Given the description of an element on the screen output the (x, y) to click on. 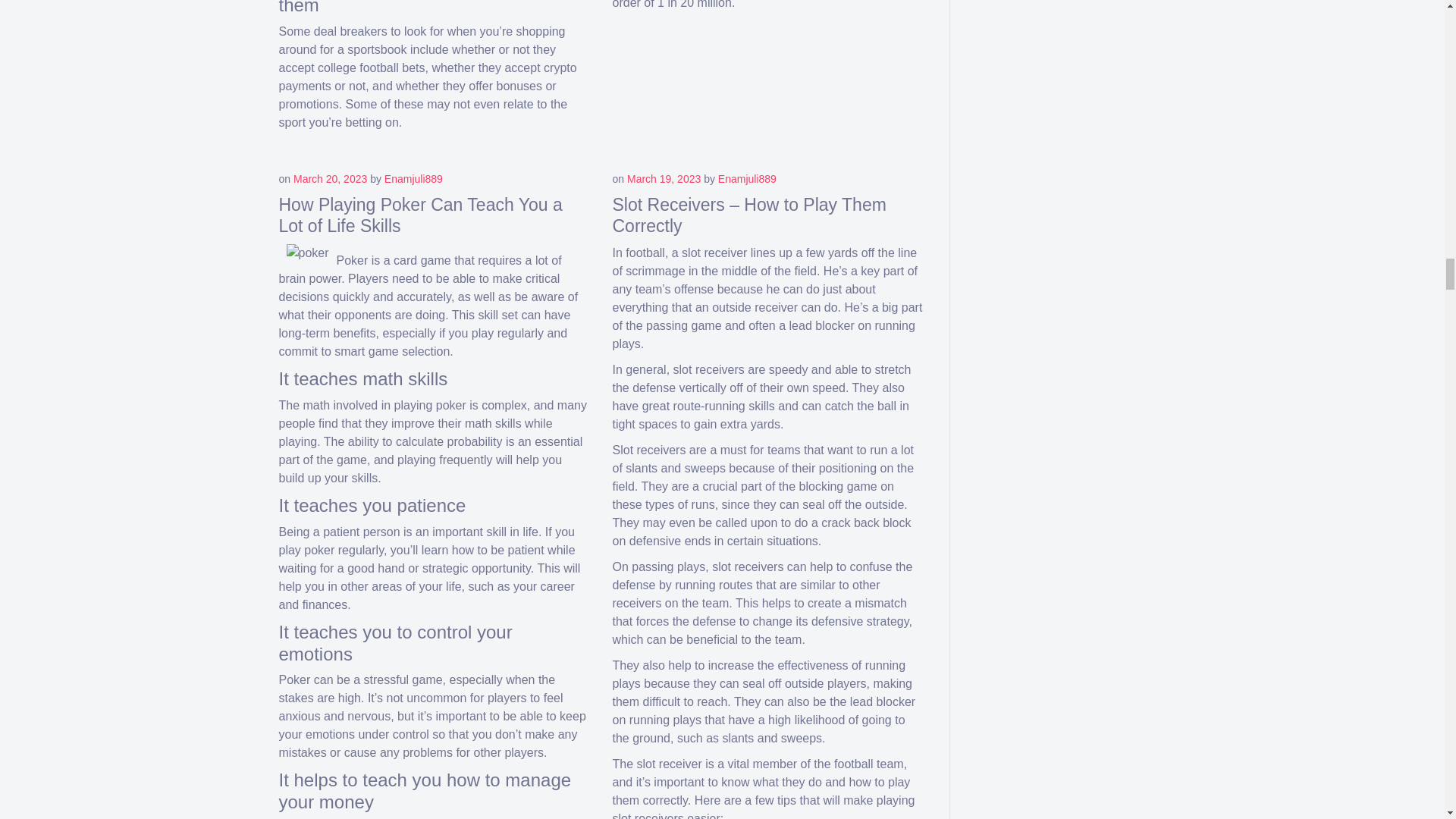
March 20, 2023 (330, 178)
